Given the description of an element on the screen output the (x, y) to click on. 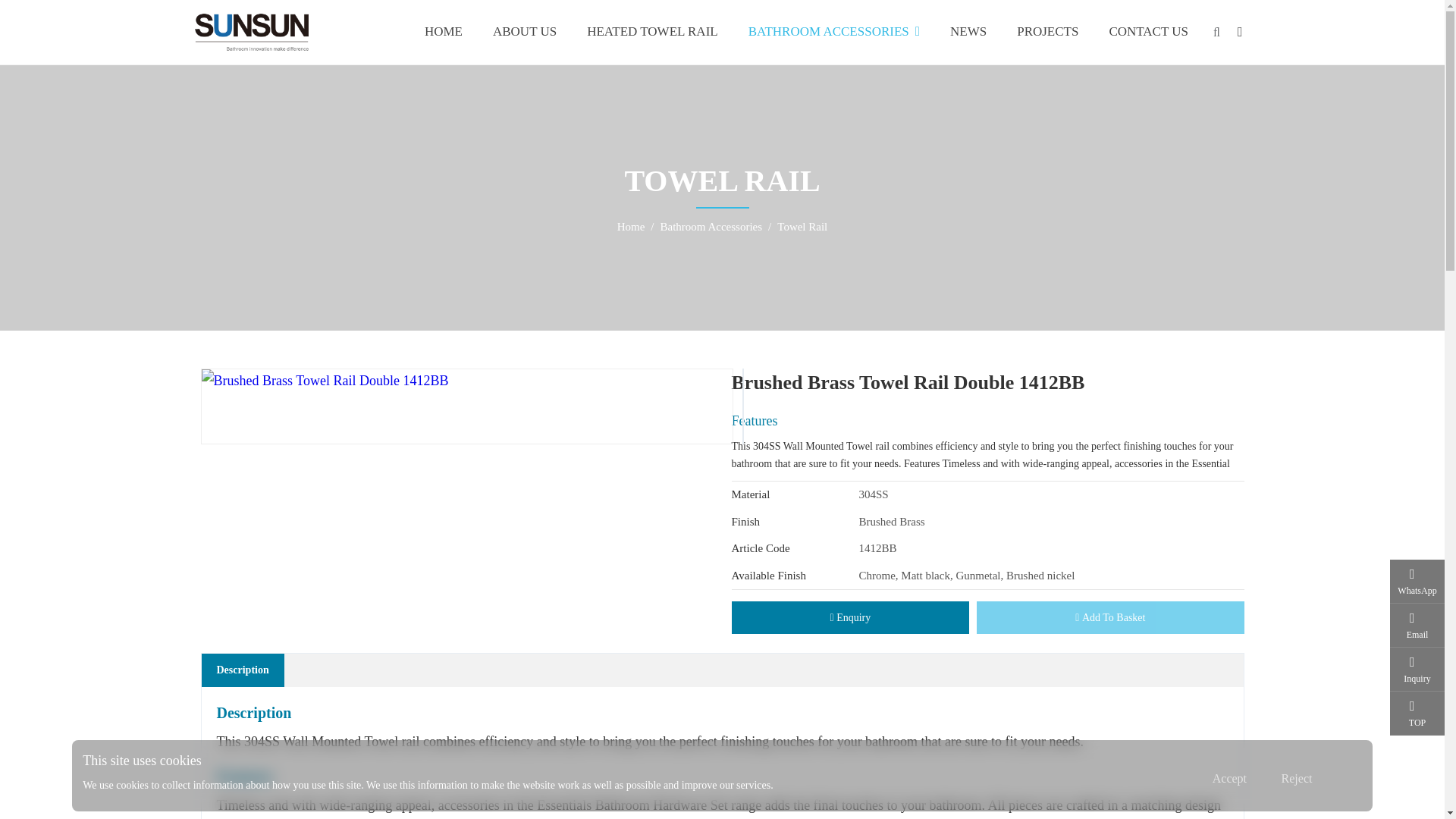
HOME (443, 32)
CONTACT US (1148, 32)
ABOUT US (524, 32)
Bathroom Accessories (711, 226)
HEATED TOWEL RAIL (652, 32)
Towel Rail (802, 226)
PROJECTS (1047, 32)
Add To Basket (1109, 617)
Enquiry (849, 617)
Description (242, 670)
NEWS (967, 32)
BATHROOM ACCESSORIES (833, 32)
Home (631, 226)
